Given the description of an element on the screen output the (x, y) to click on. 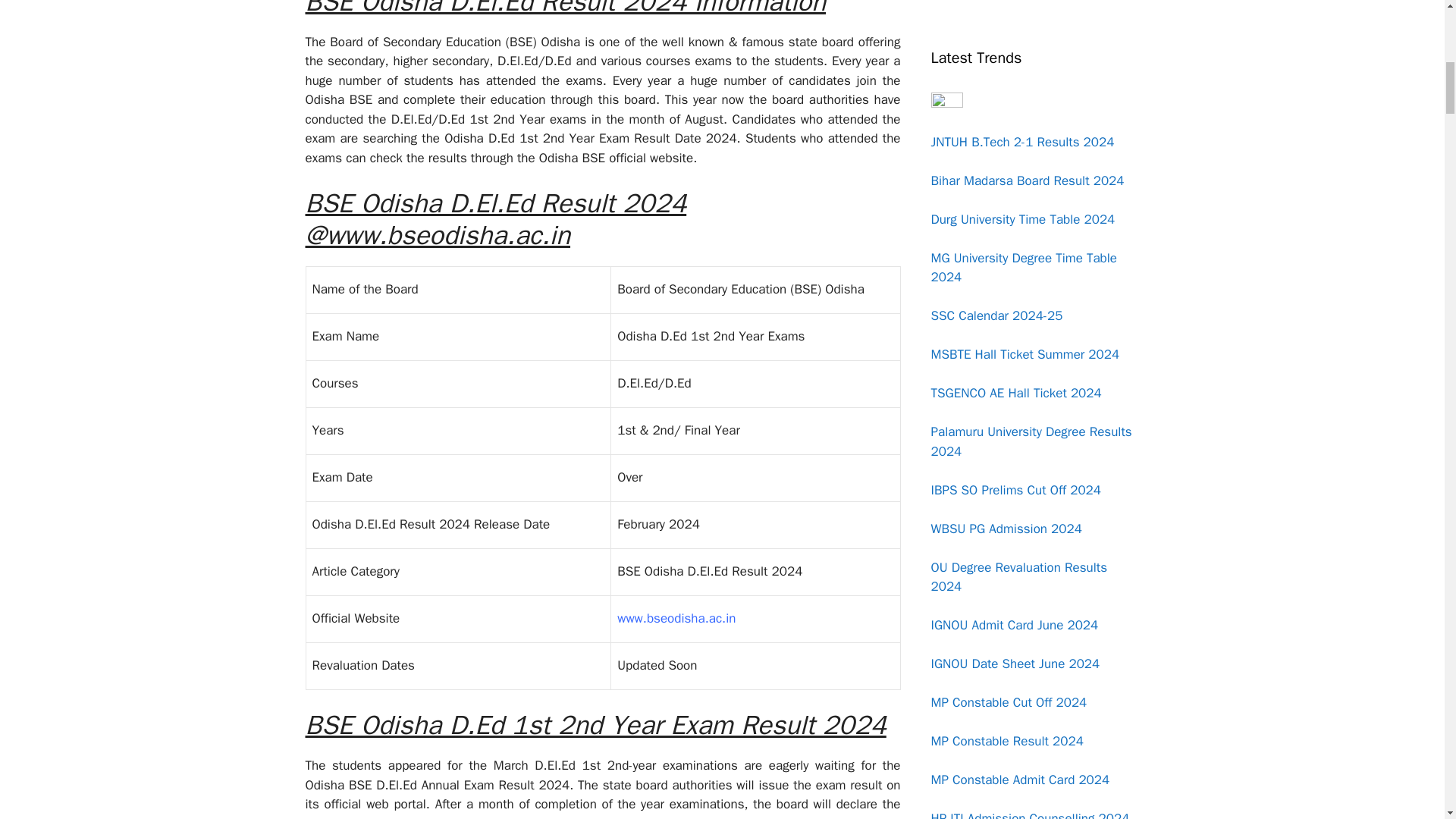
MSBTE Hall Ticket Summer 2024 (1025, 354)
MG University Degree Time Table 2024 (1024, 267)
SSC Calendar 2024-25 (996, 315)
Durg University Time Table 2024 (1023, 218)
JNTUH B.Tech 2-1 Results 2024 (1023, 141)
www.bseodisha.ac.in (676, 618)
Bihar Madarsa Board Result 2024 (1027, 180)
